Given the description of an element on the screen output the (x, y) to click on. 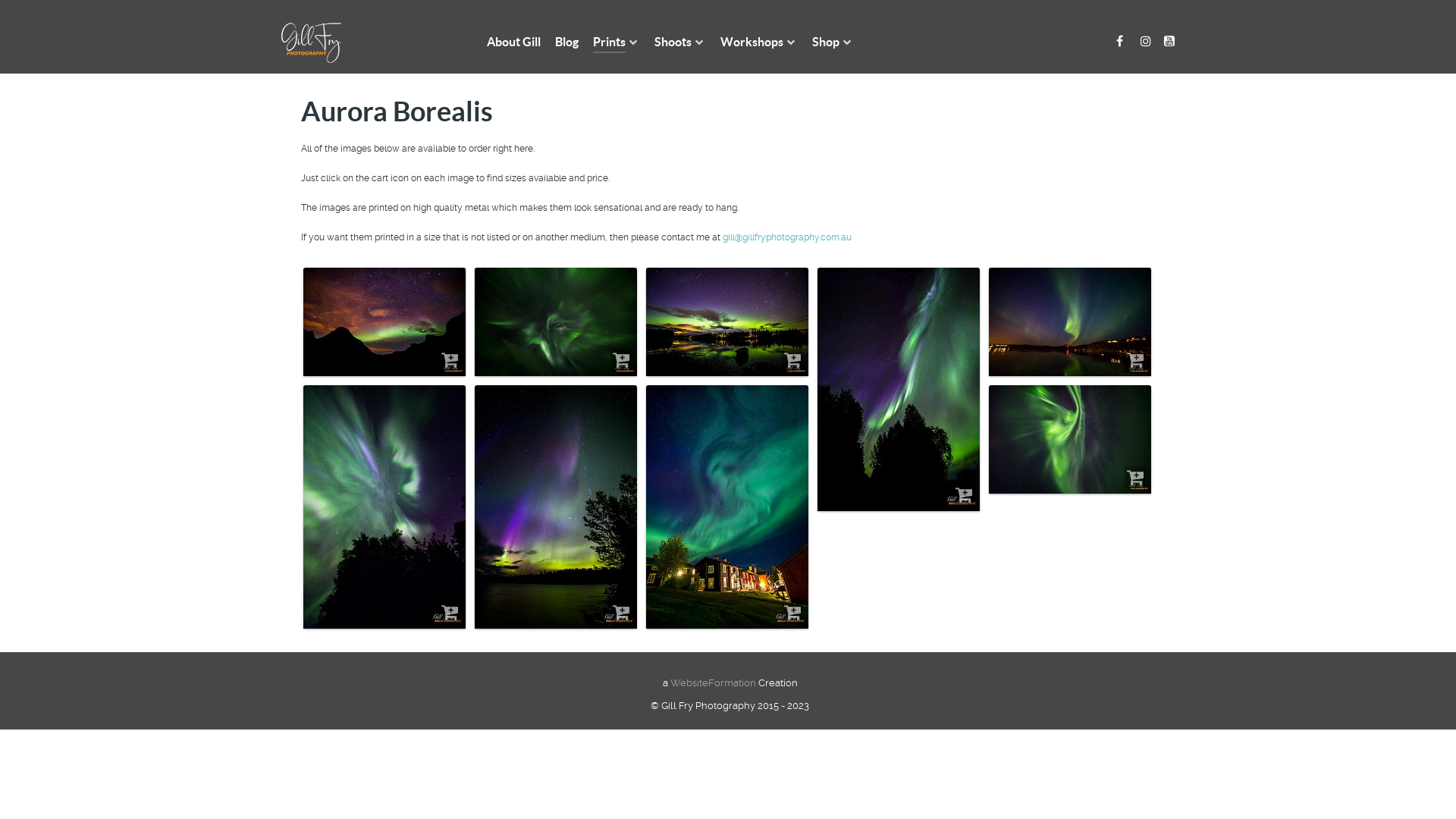
Blog Element type: text (566, 42)
Shop Element type: text (832, 42)
Add item to cart Element type: hover (963, 494)
gill@gillfryphotography.com.au Element type: text (786, 237)
Add item to cart Element type: hover (620, 359)
Add item to cart Element type: hover (792, 611)
Add item to cart Element type: hover (1134, 359)
Gill Fry Photography Element type: hover (310, 43)
Add item to cart Element type: hover (620, 611)
Add item to cart Element type: hover (449, 611)
Add item to cart Element type: hover (1134, 476)
About Gill Element type: text (513, 42)
Add item to cart Element type: hover (449, 359)
Add item to cart Element type: hover (792, 359)
WebsiteFormation Element type: text (713, 682)
